Given the description of an element on the screen output the (x, y) to click on. 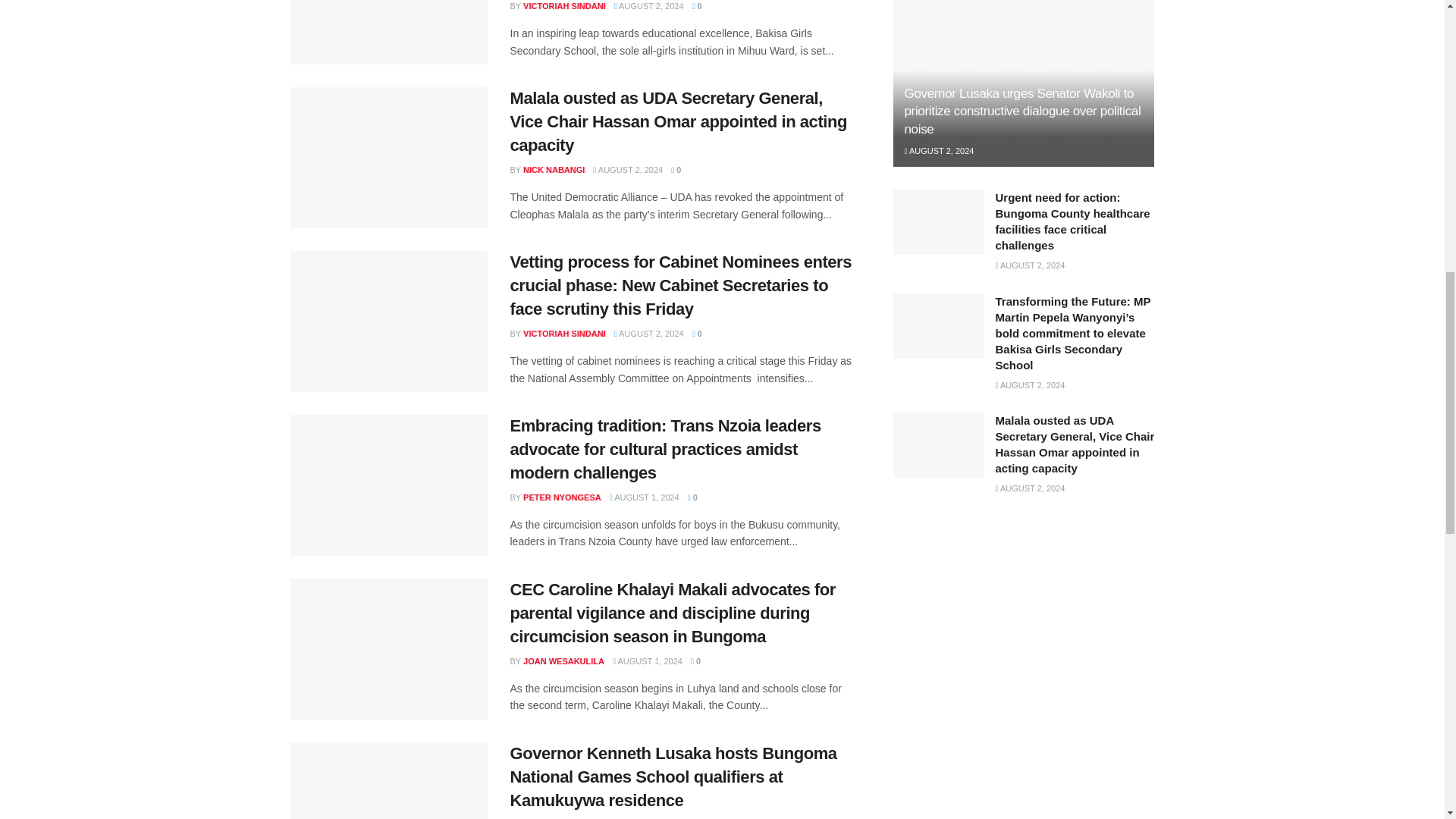
AUGUST 2, 2024 (649, 5)
VICTORIAH SINDANI (563, 5)
0 (697, 5)
